Given the description of an element on the screen output the (x, y) to click on. 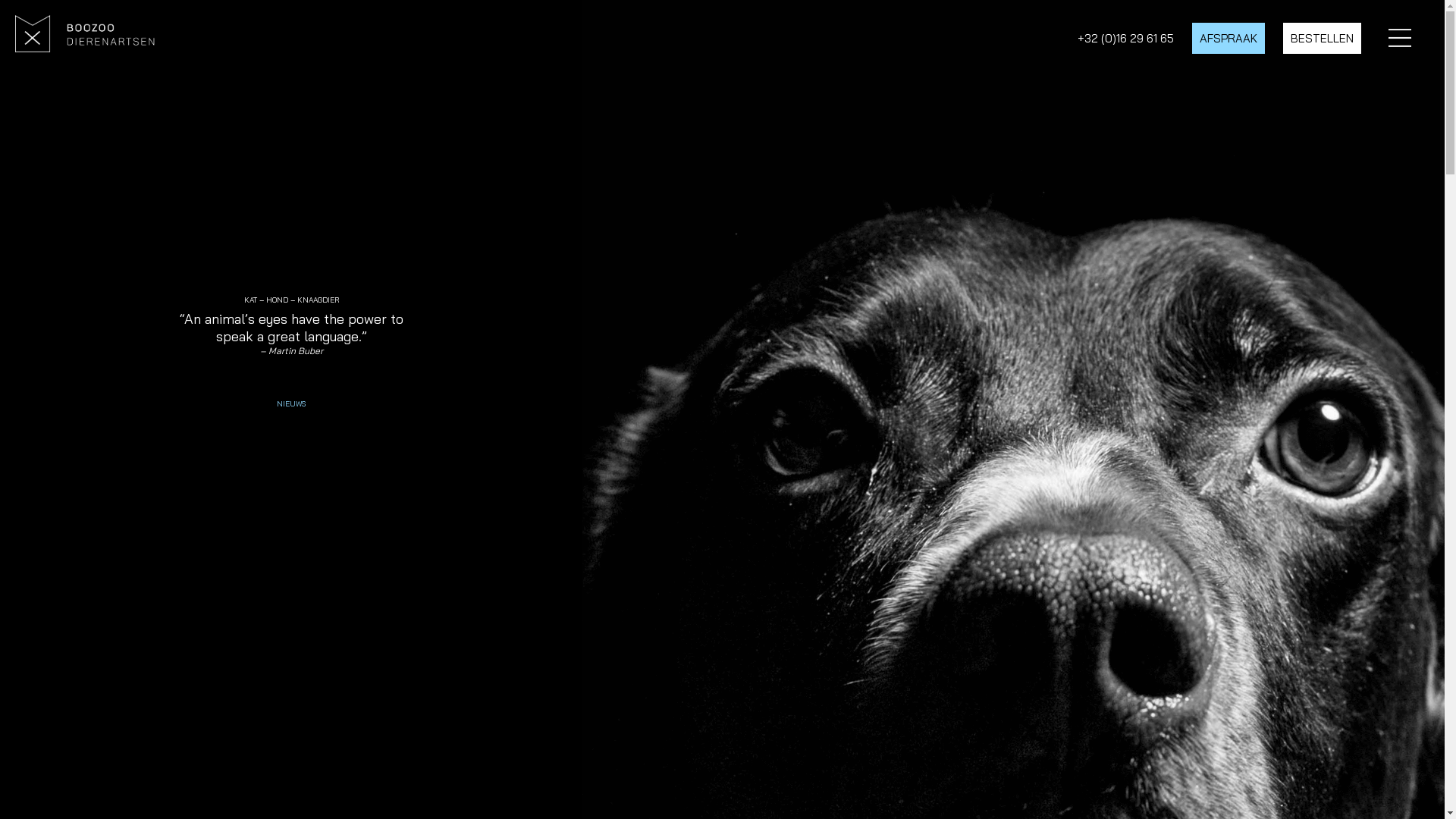
+32 (0)16 29 61 65 Element type: text (1125, 38)
AFSPRAAK Element type: text (1228, 38)
BESTELLEN Element type: text (1321, 38)
